Given the description of an element on the screen output the (x, y) to click on. 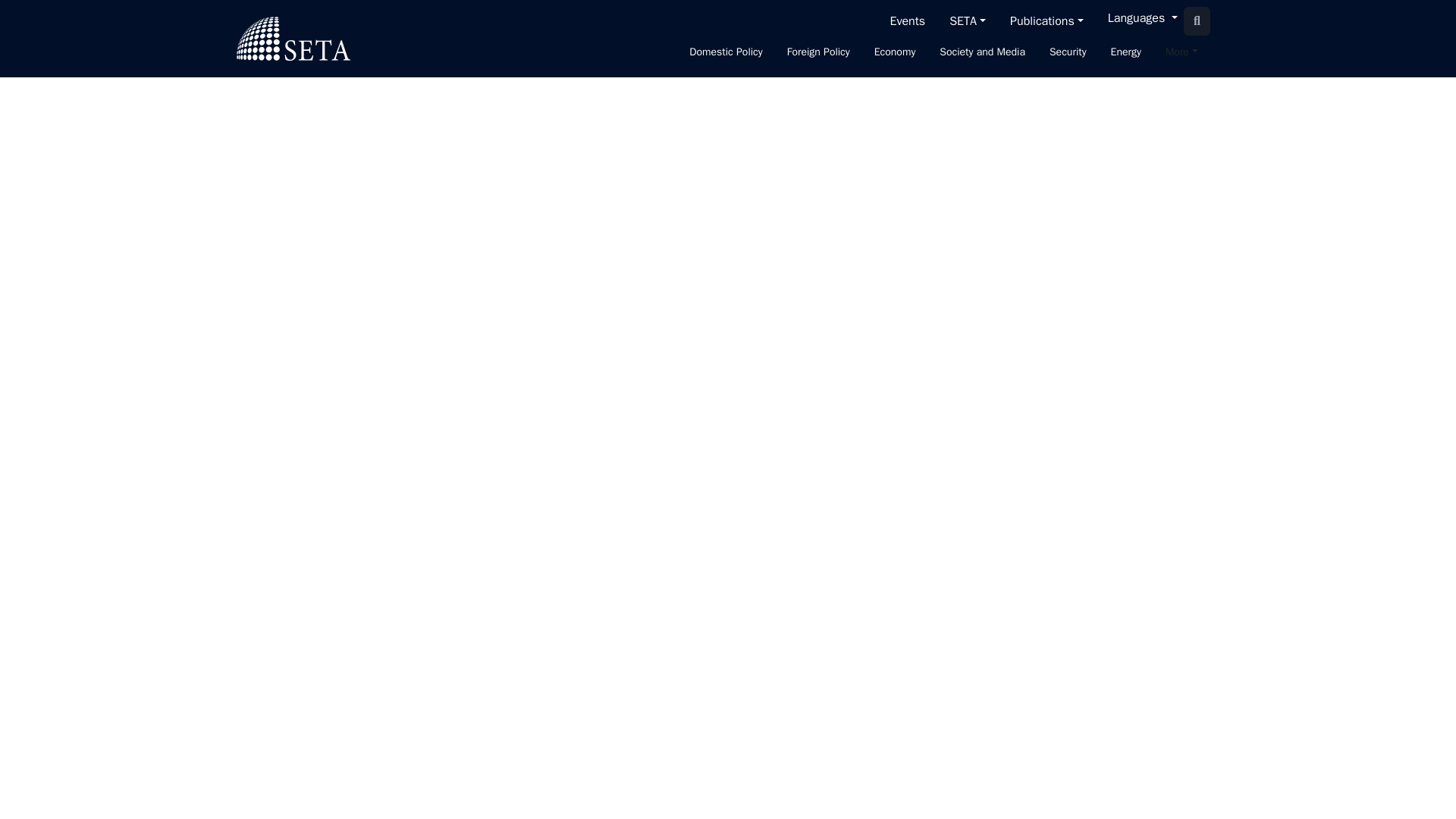
More (1181, 53)
SETA (292, 38)
More (1181, 53)
Foreign Policy (818, 53)
Languages (1142, 21)
Events (907, 20)
Publications (1046, 20)
Security (1068, 53)
Society and Media (981, 53)
Economy (894, 53)
Energy (1126, 53)
SETA (967, 20)
Energy (1126, 53)
Society and Media (981, 53)
Domestic Policy (725, 53)
